Given the description of an element on the screen output the (x, y) to click on. 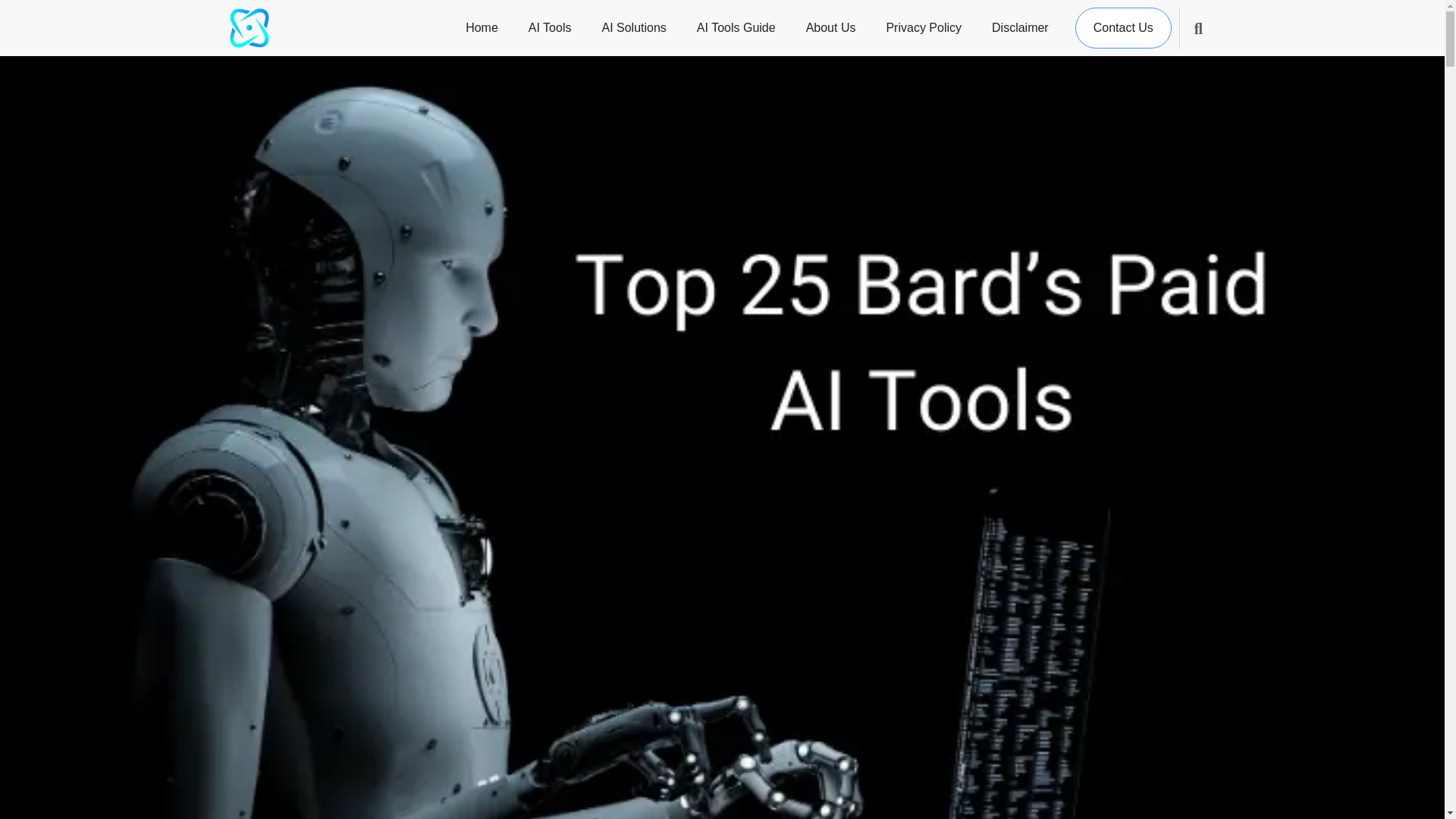
AI Tools Guide (735, 27)
AI Tools (549, 27)
AI Solutions (632, 27)
About Us (831, 27)
Disclaimer (1020, 27)
Home (481, 27)
Search (1189, 28)
Privacy Policy (923, 27)
Contact Us (1123, 27)
